Given the description of an element on the screen output the (x, y) to click on. 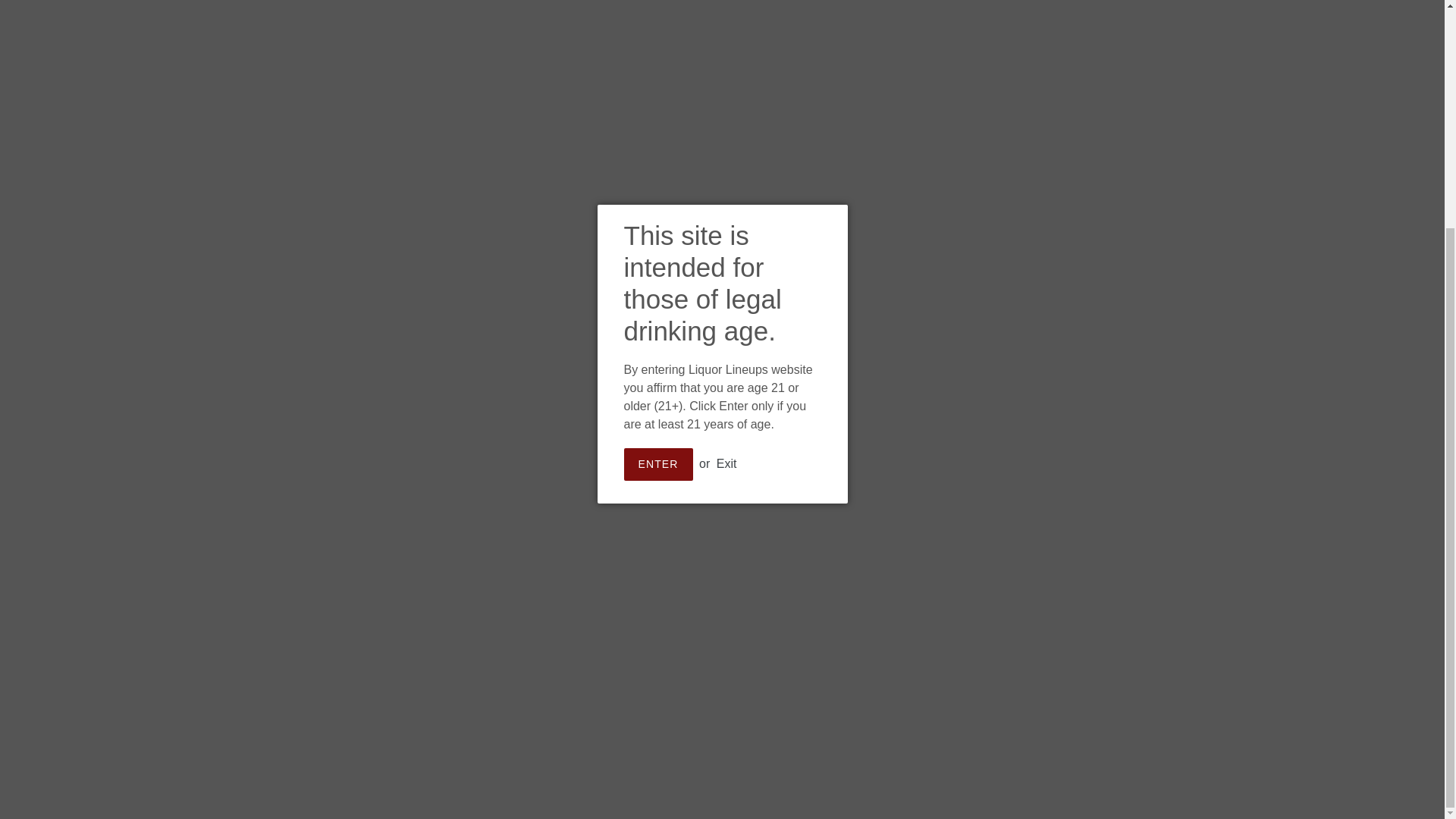
ADD TO CART (768, 393)
